Given the description of an element on the screen output the (x, y) to click on. 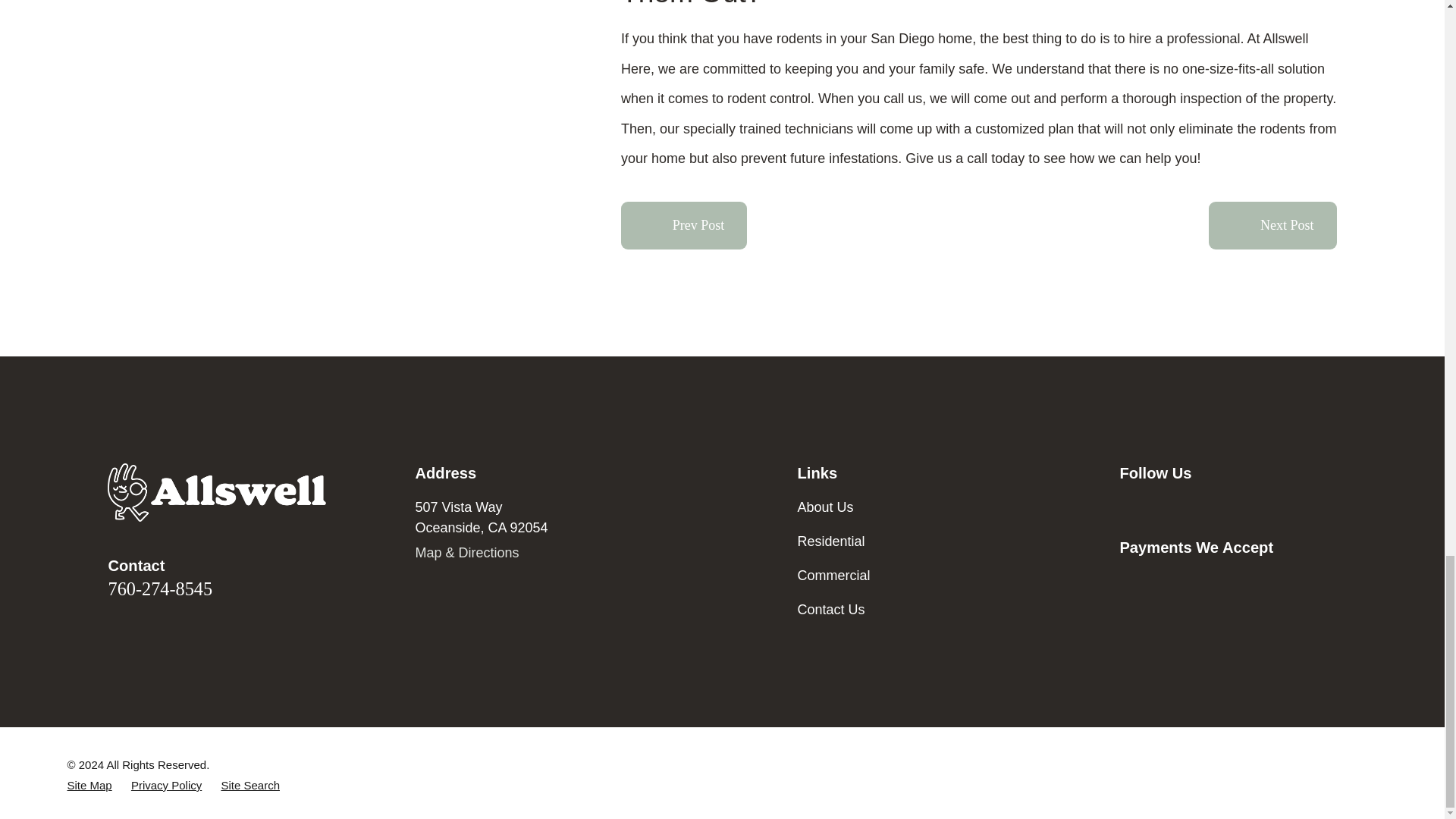
Instagram (1207, 506)
Yelp (1248, 506)
Visa (1128, 580)
Google Business Profile (1128, 506)
Facebook (1167, 506)
Home (216, 492)
